Given the description of an element on the screen output the (x, y) to click on. 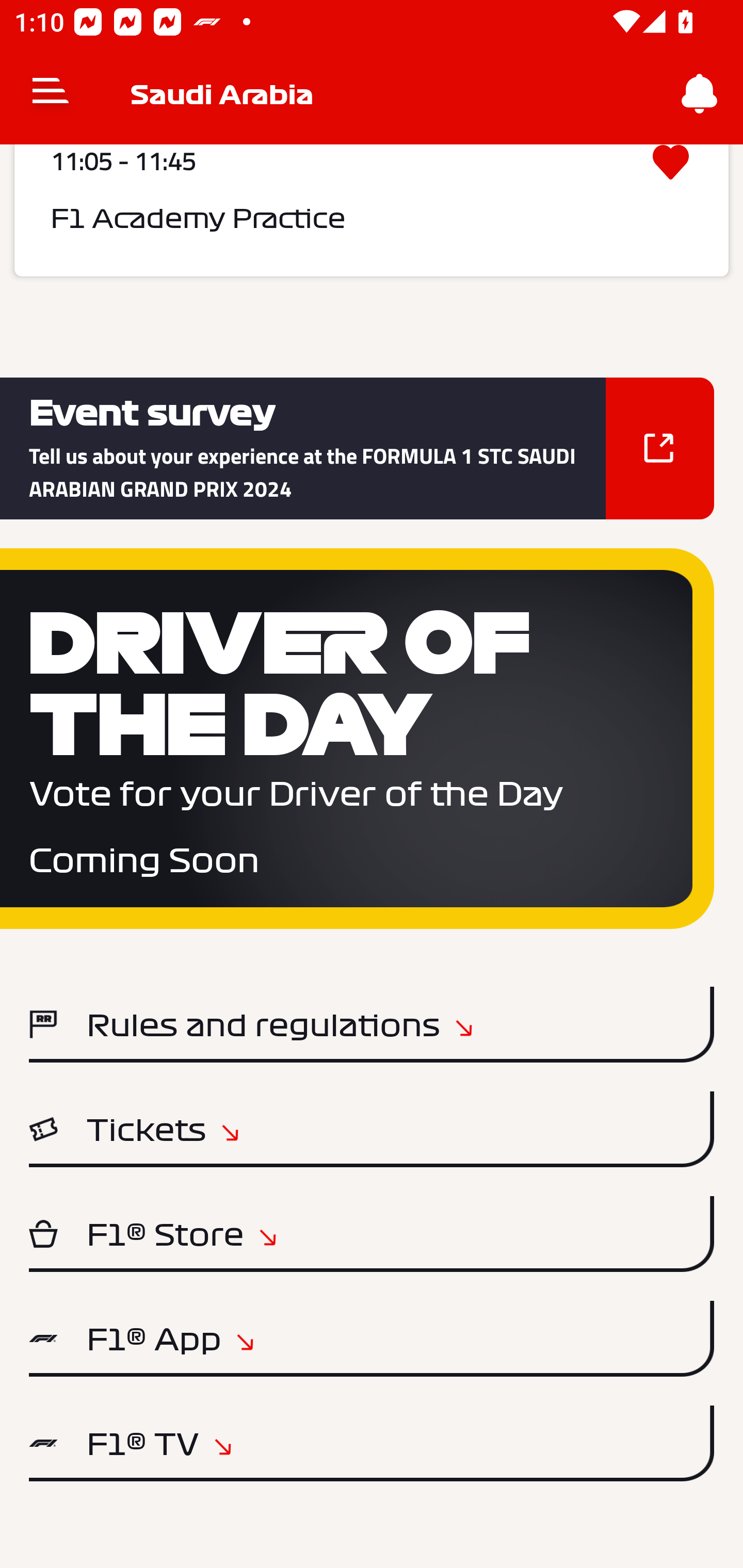
Navigate up (50, 93)
Notifications (699, 93)
11:05 - 11:45 F1 Academy Practice (371, 209)
Rules and regulations (371, 1024)
Tickets (371, 1128)
F1® Store (371, 1233)
F1® App (371, 1338)
F1® TV (371, 1442)
